Given the description of an element on the screen output the (x, y) to click on. 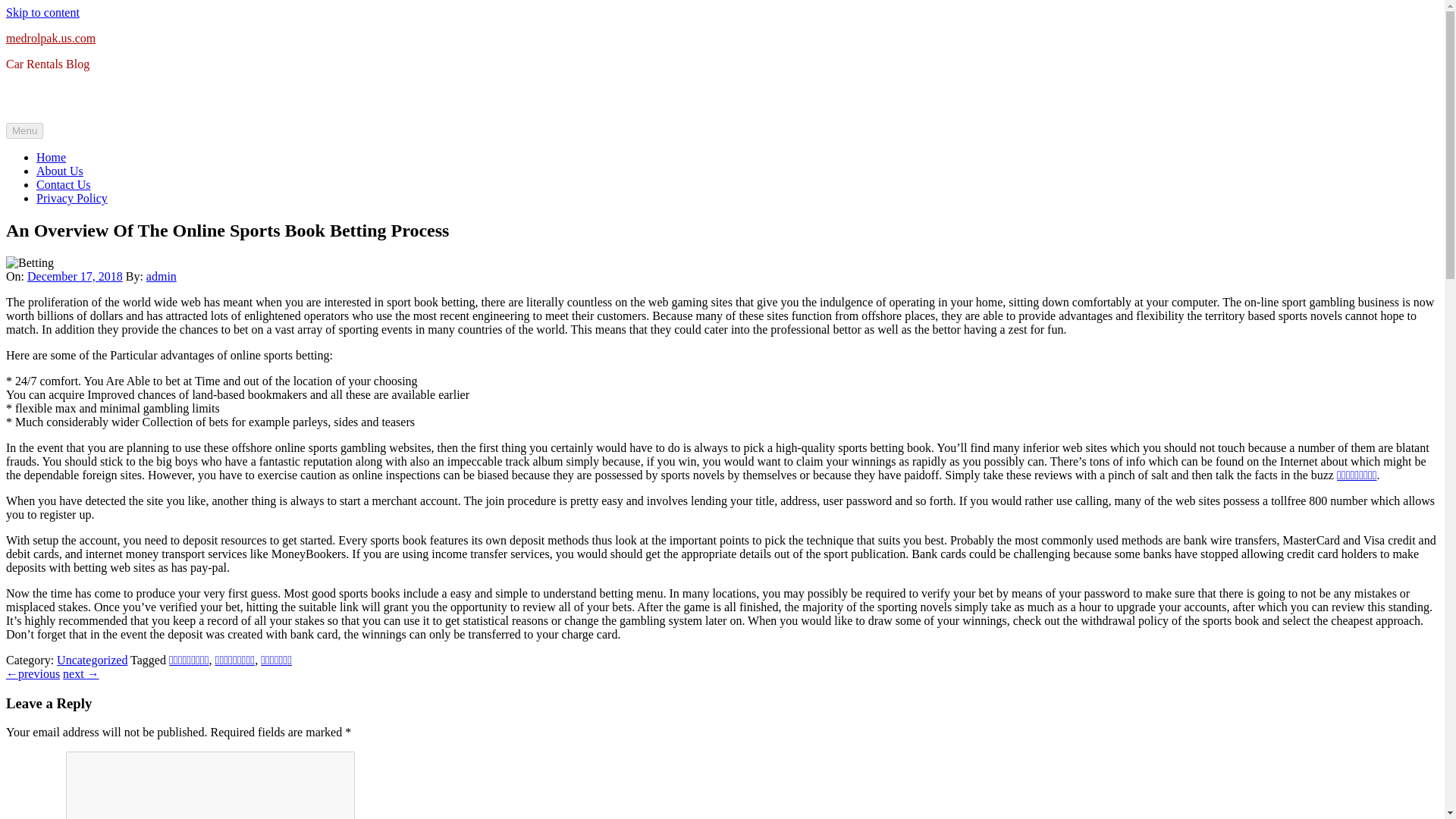
Home (50, 156)
December 17, 2018 (74, 276)
Uncategorized (92, 659)
Privacy Policy (71, 197)
Contact Us (63, 184)
Skip to content (42, 11)
admin (161, 276)
medrolpak.us.com (50, 38)
About Us (59, 170)
Menu (24, 130)
